Given the description of an element on the screen output the (x, y) to click on. 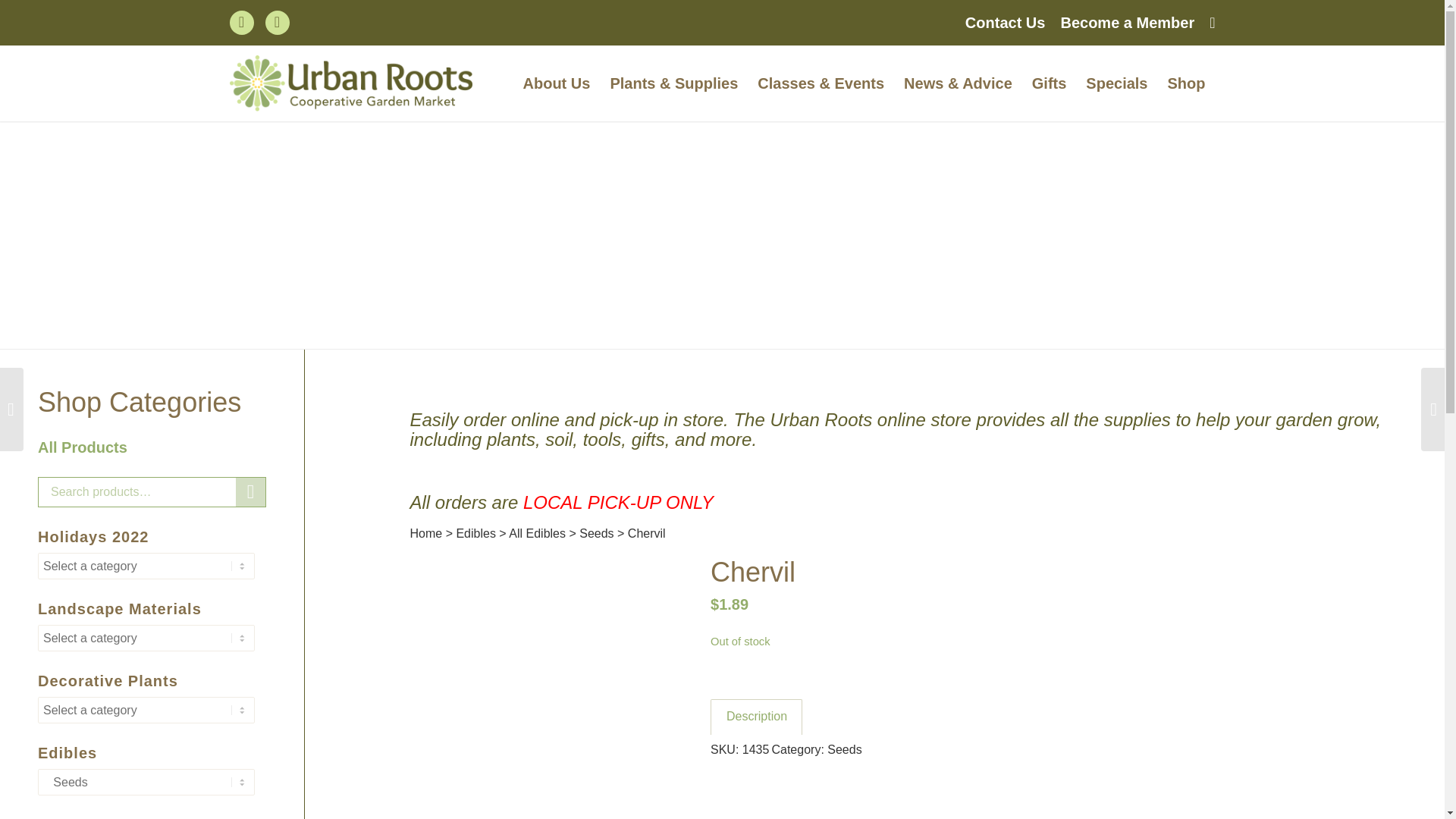
Become a Member (1126, 22)
About Us (556, 83)
Instagram (276, 22)
Facebook (240, 22)
Contact Us (1005, 22)
Specials (1116, 83)
